Given the description of an element on the screen output the (x, y) to click on. 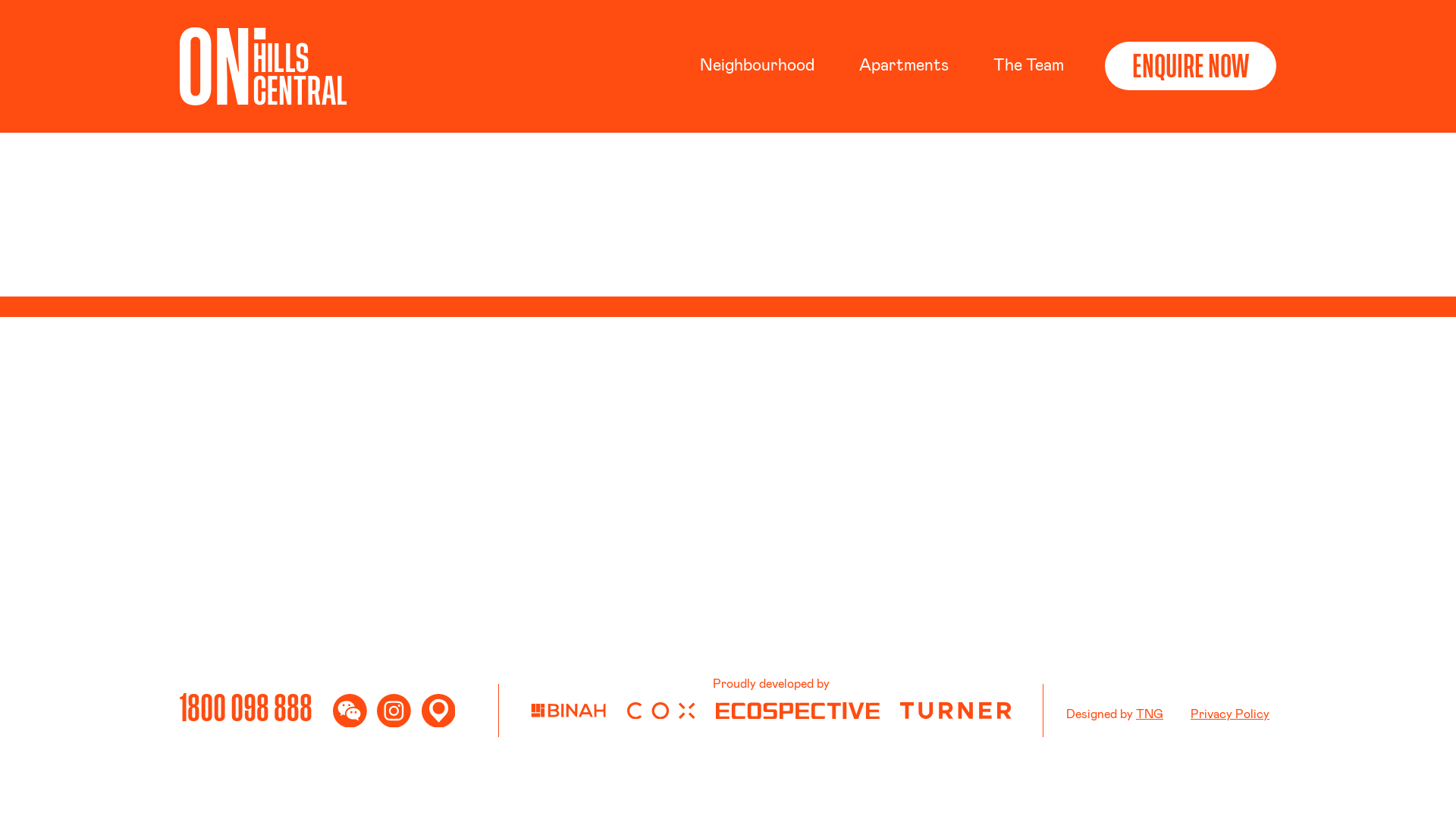
Apartments Element type: text (905, 65)
TNG Element type: text (1149, 714)
Privacy Policy Element type: text (1229, 714)
1800 098 888 Element type: text (245, 710)
ENQUIRE NOW Element type: text (1190, 65)
Neighbourhood Element type: text (758, 65)
The Team Element type: text (1028, 65)
